Given the description of an element on the screen output the (x, y) to click on. 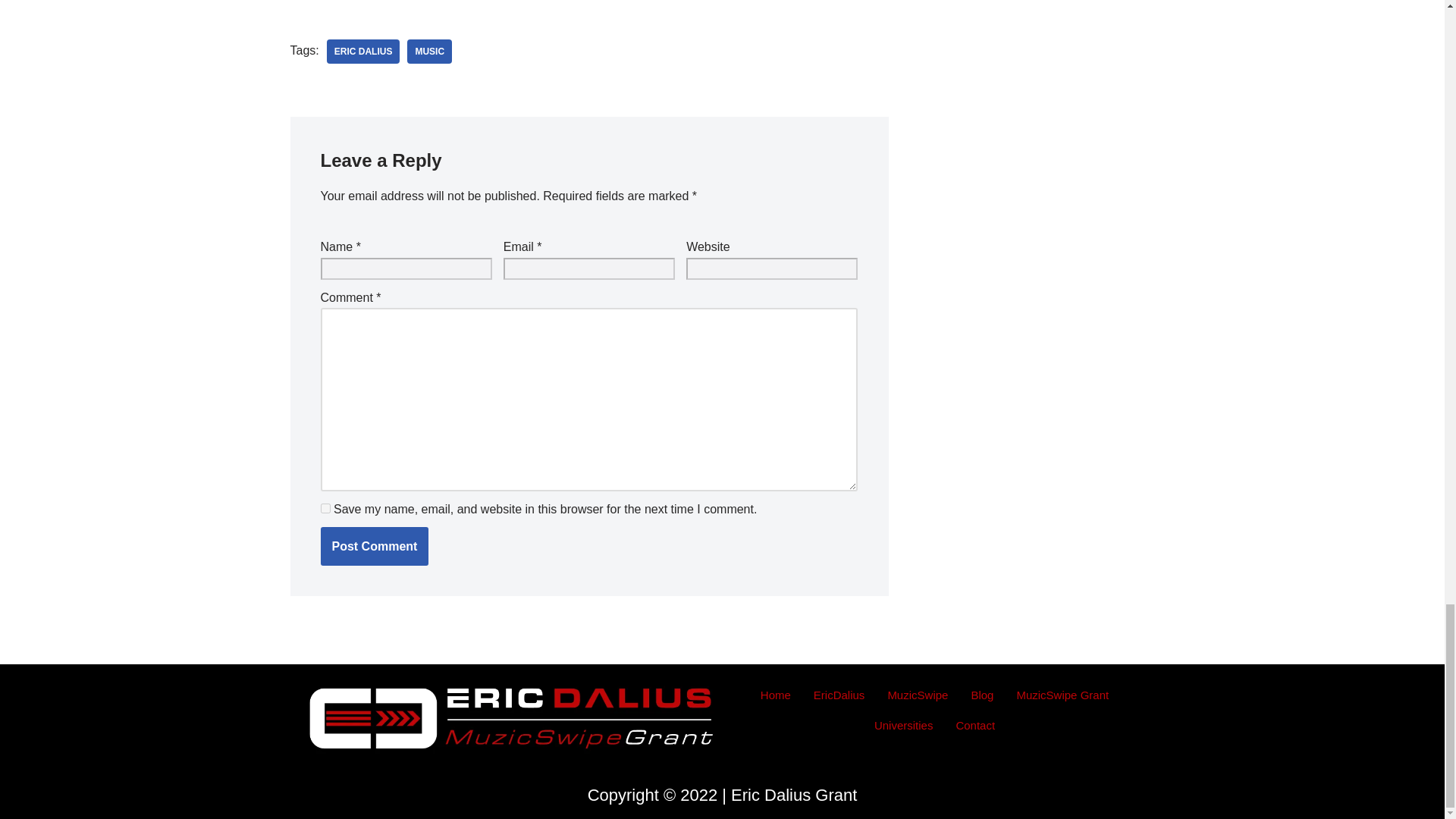
Post Comment (374, 546)
Post Comment (374, 546)
ERIC DALIUS (363, 51)
yes (325, 508)
Home (775, 694)
Music (429, 51)
MUSIC (429, 51)
Eric Dalius (363, 51)
